Given the description of an element on the screen output the (x, y) to click on. 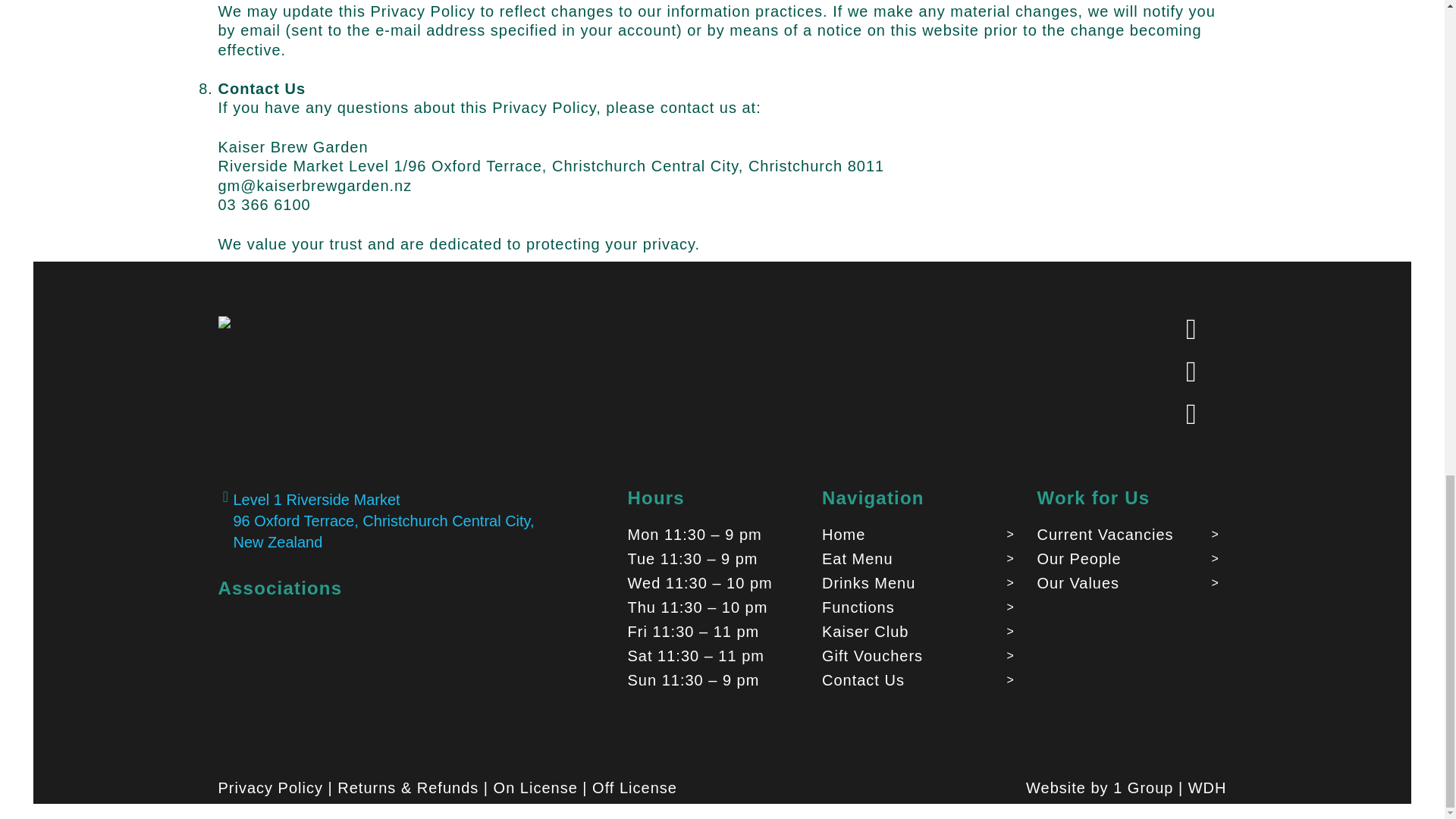
Eat Menu (922, 558)
Home (922, 534)
